Given the description of an element on the screen output the (x, y) to click on. 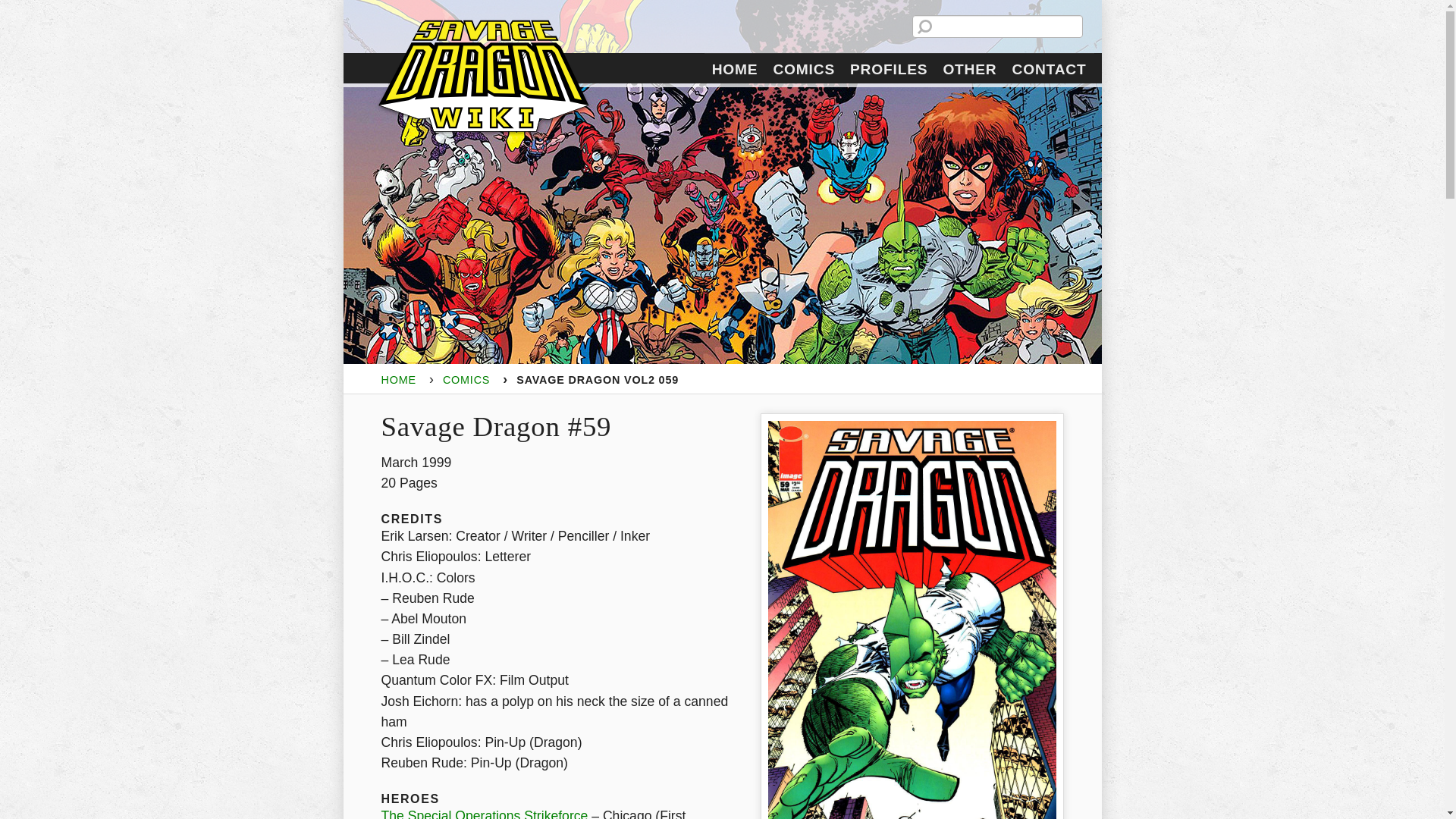
Go to Comics (465, 378)
Search (16, 5)
HOME (397, 378)
Go to Home (397, 378)
The Special Operations Strikeforce (484, 812)
COMICS (465, 378)
